Given the description of an element on the screen output the (x, y) to click on. 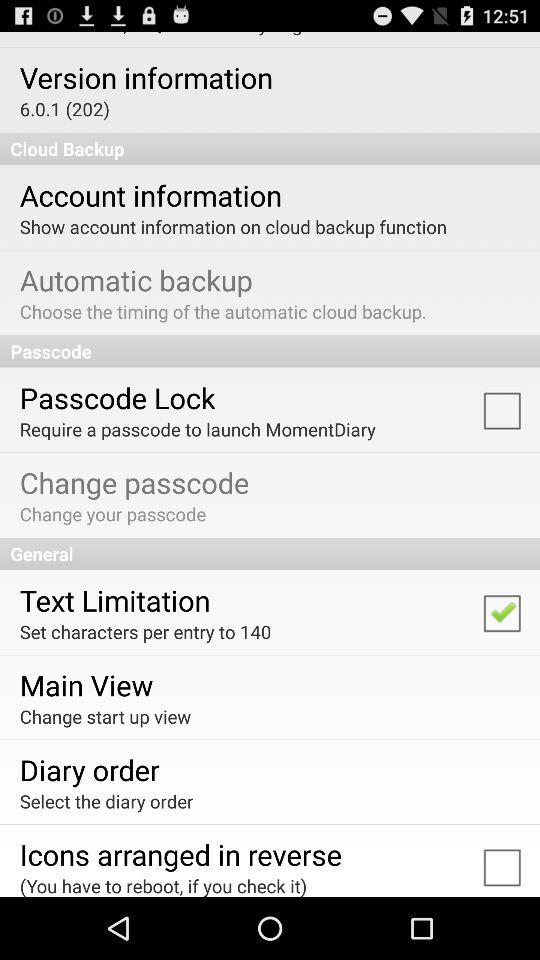
turn on version information icon (146, 77)
